Given the description of an element on the screen output the (x, y) to click on. 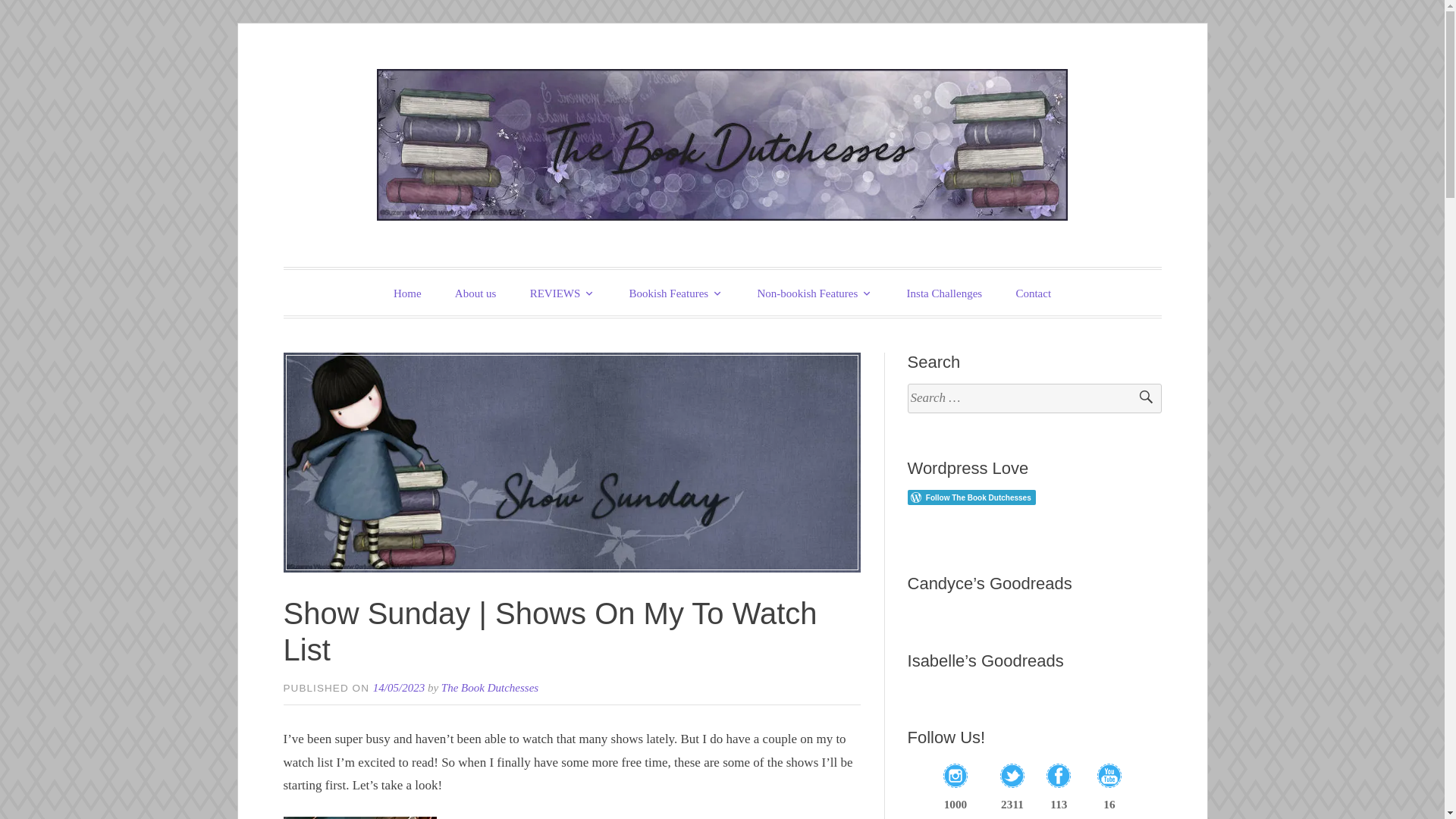
Home (407, 294)
Bookish Features (676, 292)
The Book Dutchesses (561, 267)
Insta Challenges (944, 294)
Search (1138, 398)
Non-bookish Features (814, 292)
Follow Button (1034, 497)
About us (475, 294)
REVIEWS (563, 292)
Contact (1032, 294)
Search (1138, 398)
